Given the description of an element on the screen output the (x, y) to click on. 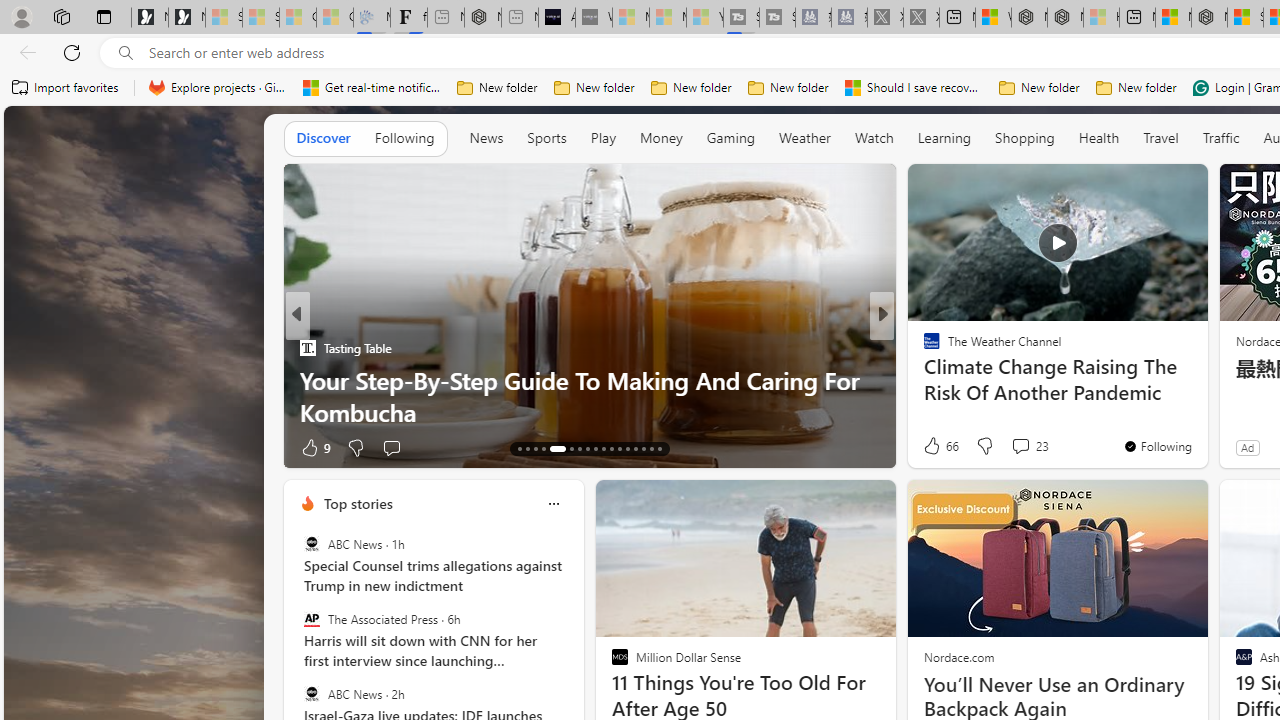
View comments 7 Comment (1019, 447)
View comments 2 Comment (1019, 447)
AutomationID: tab-13 (518, 448)
What's the best AI voice generator? - voice.ai - Sleeping (593, 17)
361 Like (936, 447)
AutomationID: tab-21 (595, 448)
AutomationID: tab-14 (527, 448)
